Given the description of an element on the screen output the (x, y) to click on. 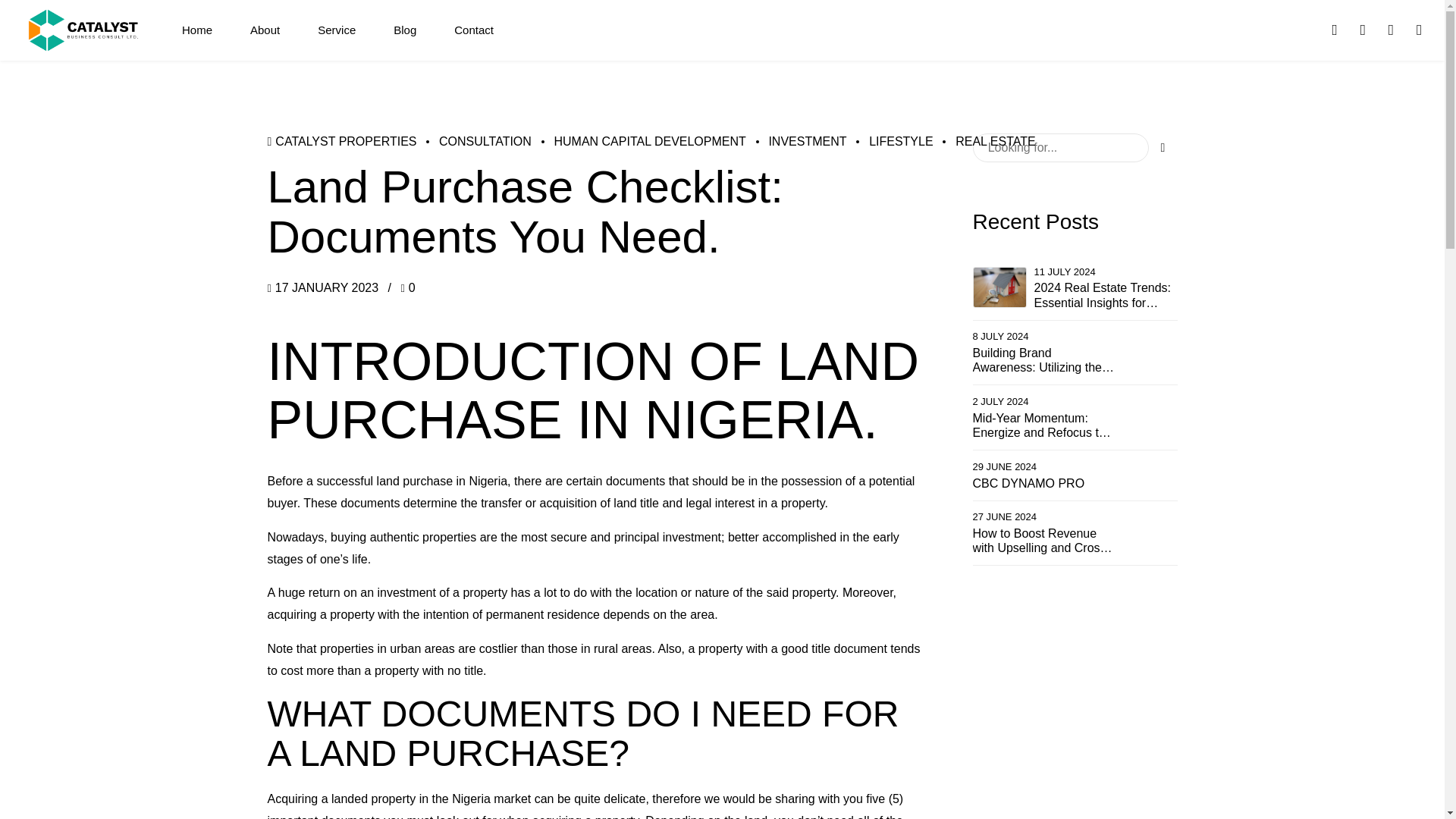
REAL ESTATE (984, 141)
LIFESTYLE (890, 141)
Mid-Year Momentum: Energize and Refocus to Finish Strong (1043, 425)
CBC DYNAMO PRO (1043, 482)
HUMAN CAPITAL DEVELOPMENT (638, 141)
CATALYST PROPERTIES (341, 141)
CONSULTATION (473, 141)
INVESTMENT (796, 141)
0 (407, 287)
